Given the description of an element on the screen output the (x, y) to click on. 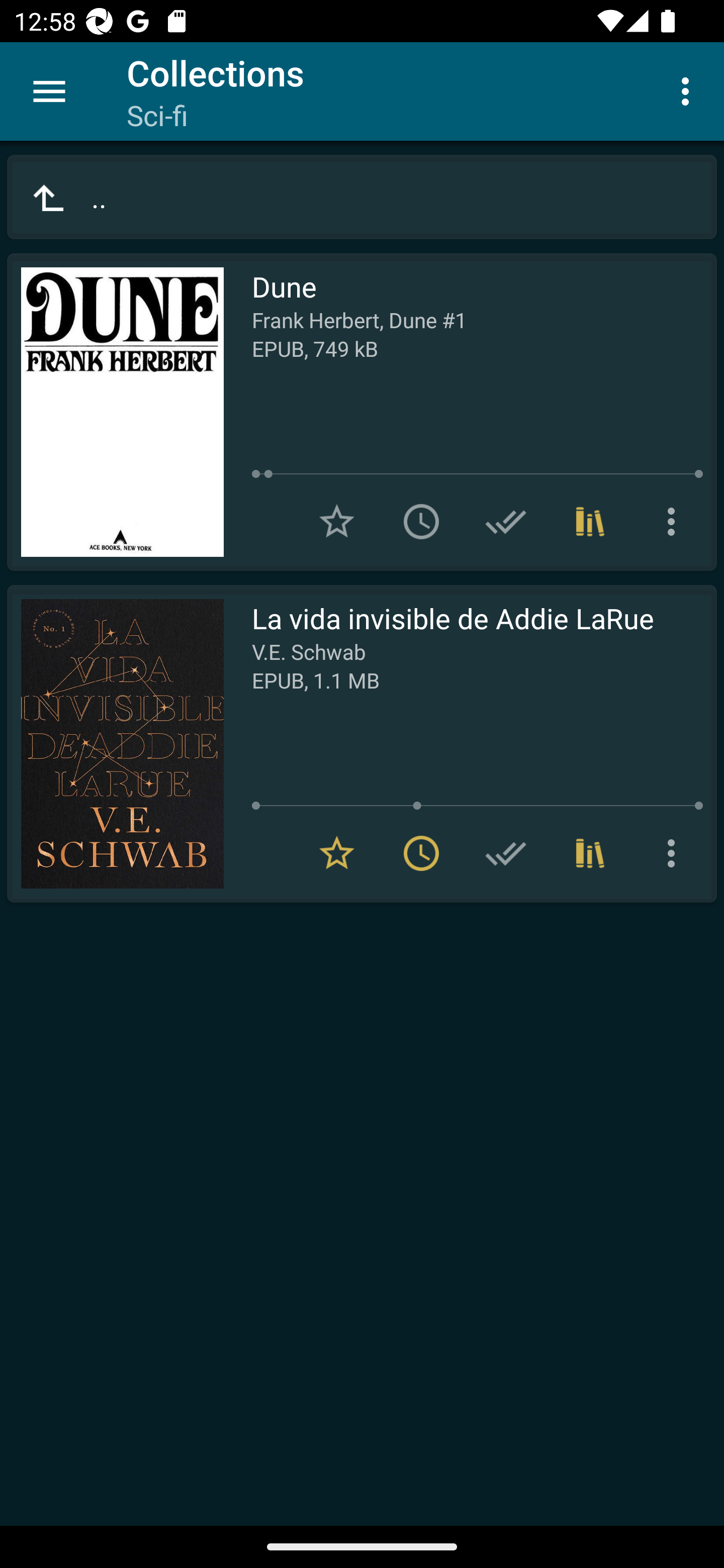
Menu (49, 91)
More options (688, 90)
.. (361, 197)
Read Dune (115, 412)
Add to Favorites (336, 521)
Add to To read (421, 521)
Add to Have read (505, 521)
Collections (1) (590, 521)
More options (674, 521)
Read La vida invisible de Addie LaRue (115, 743)
Remove from Favorites (336, 852)
Remove from To read (421, 852)
Add to Have read (505, 852)
Collections (1) (590, 852)
More options (674, 852)
